Given the description of an element on the screen output the (x, y) to click on. 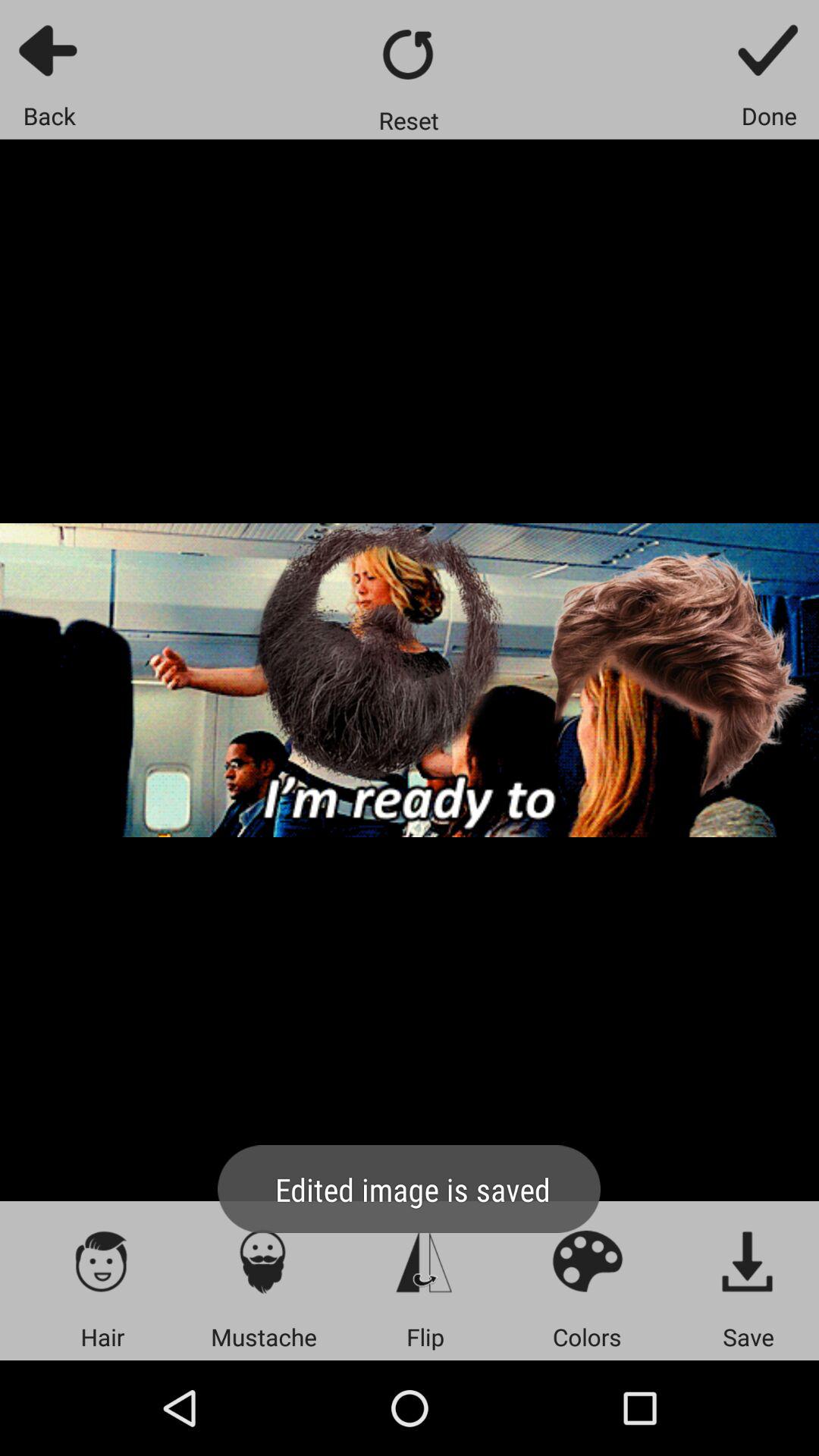
access color pallette (586, 1260)
